Given the description of an element on the screen output the (x, y) to click on. 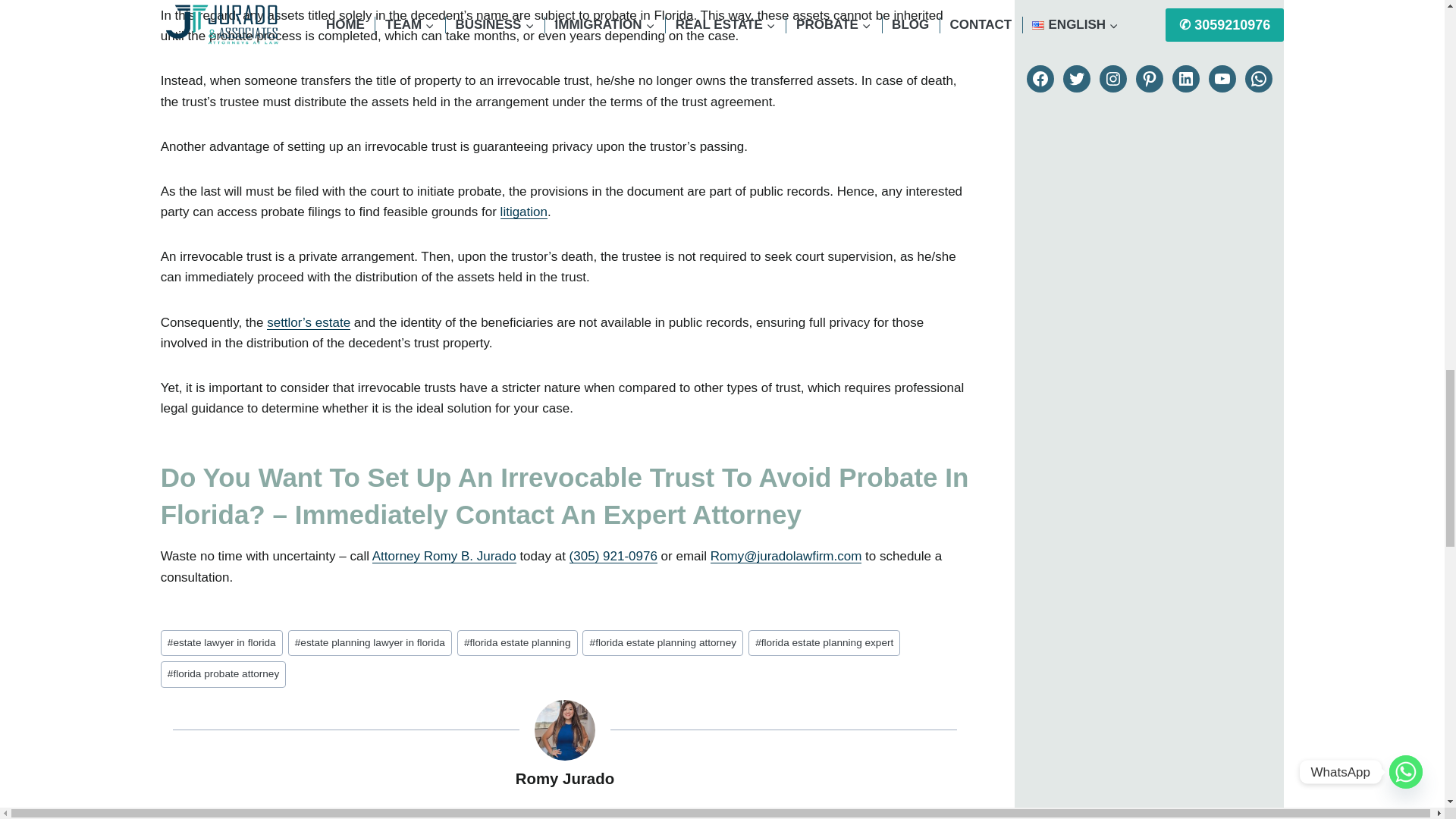
florida estate planning expert (823, 642)
Posts by Romy Jurado (564, 778)
florida probate attorney (223, 673)
estate lawyer in florida (221, 642)
florida estate planning attorney (662, 642)
estate planning lawyer in florida (369, 642)
florida estate planning (517, 642)
